Given the description of an element on the screen output the (x, y) to click on. 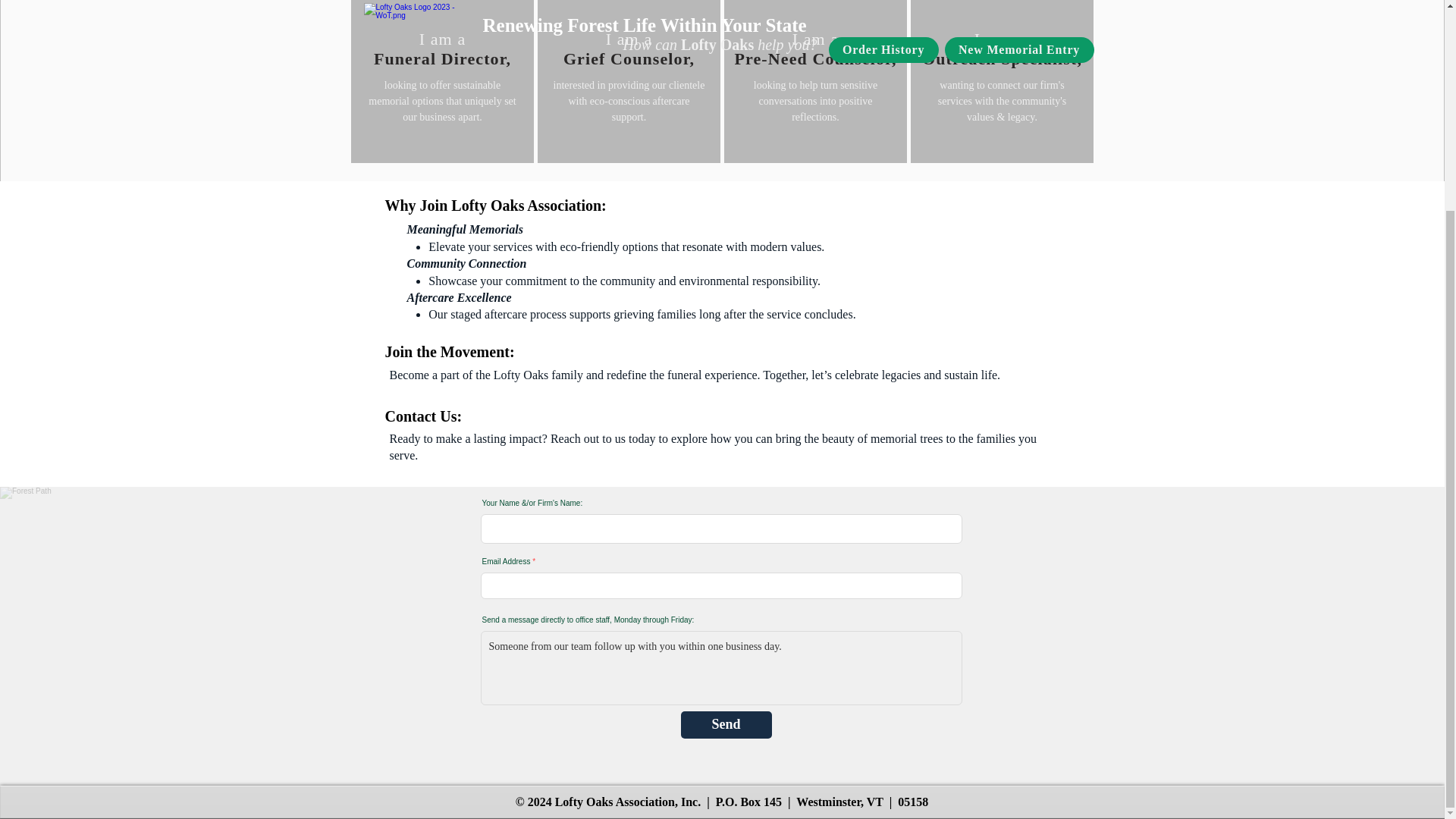
Send (726, 724)
